Given the description of an element on the screen output the (x, y) to click on. 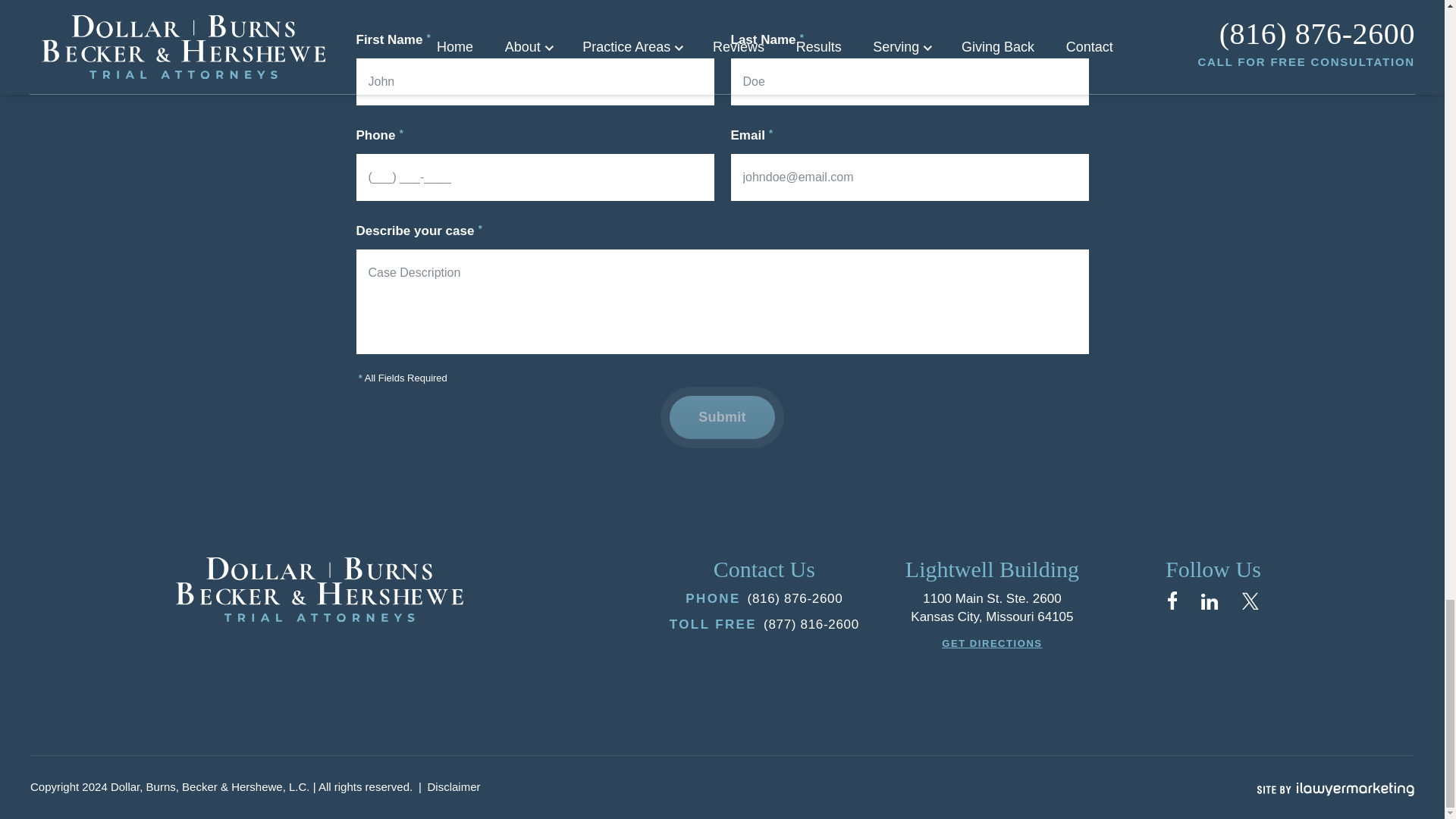
Toll Free (810, 625)
Phone (795, 599)
